Given the description of an element on the screen output the (x, y) to click on. 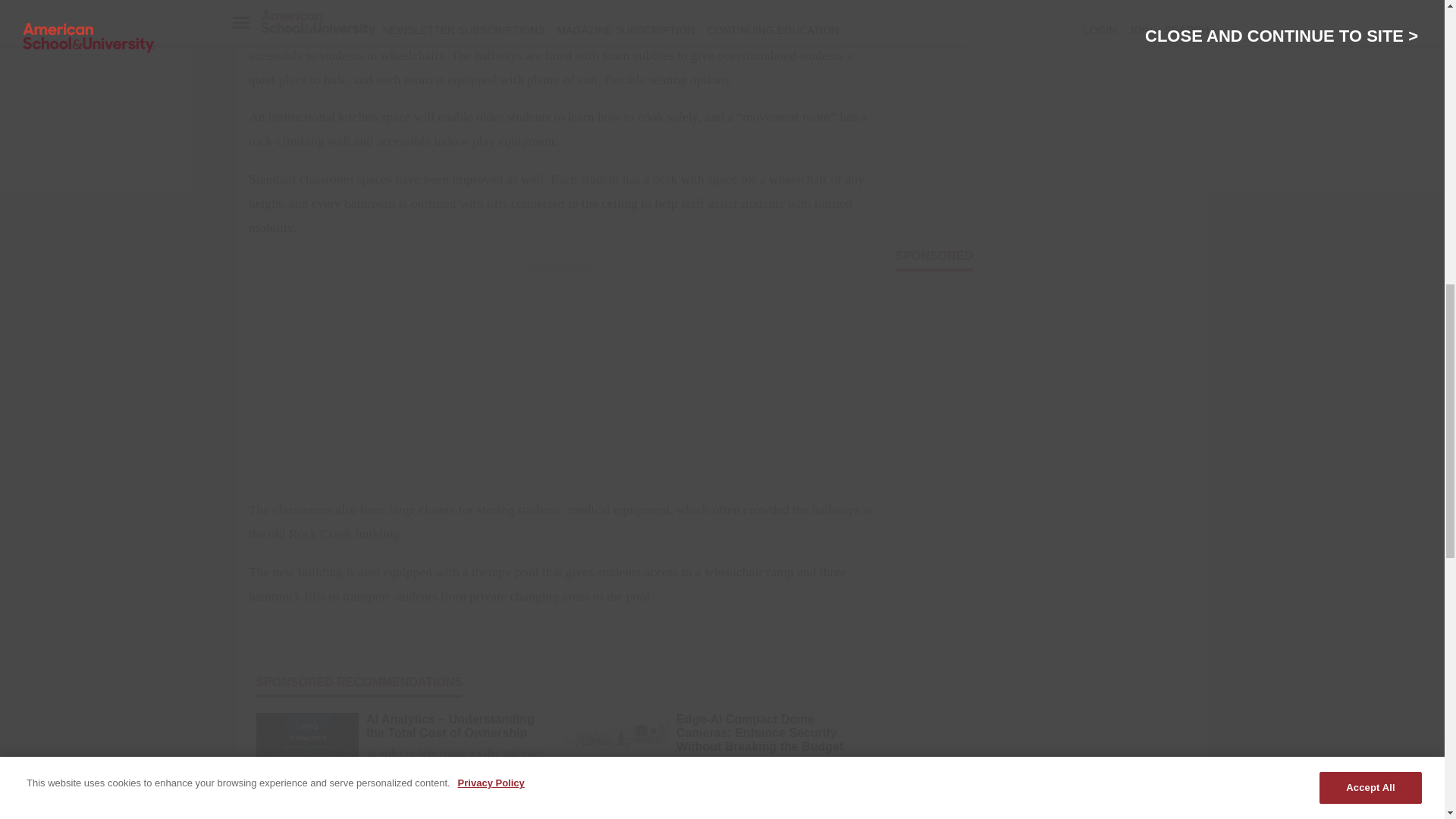
3rd party ad content (1042, 125)
3rd party ad content (560, 370)
